Given the description of an element on the screen output the (x, y) to click on. 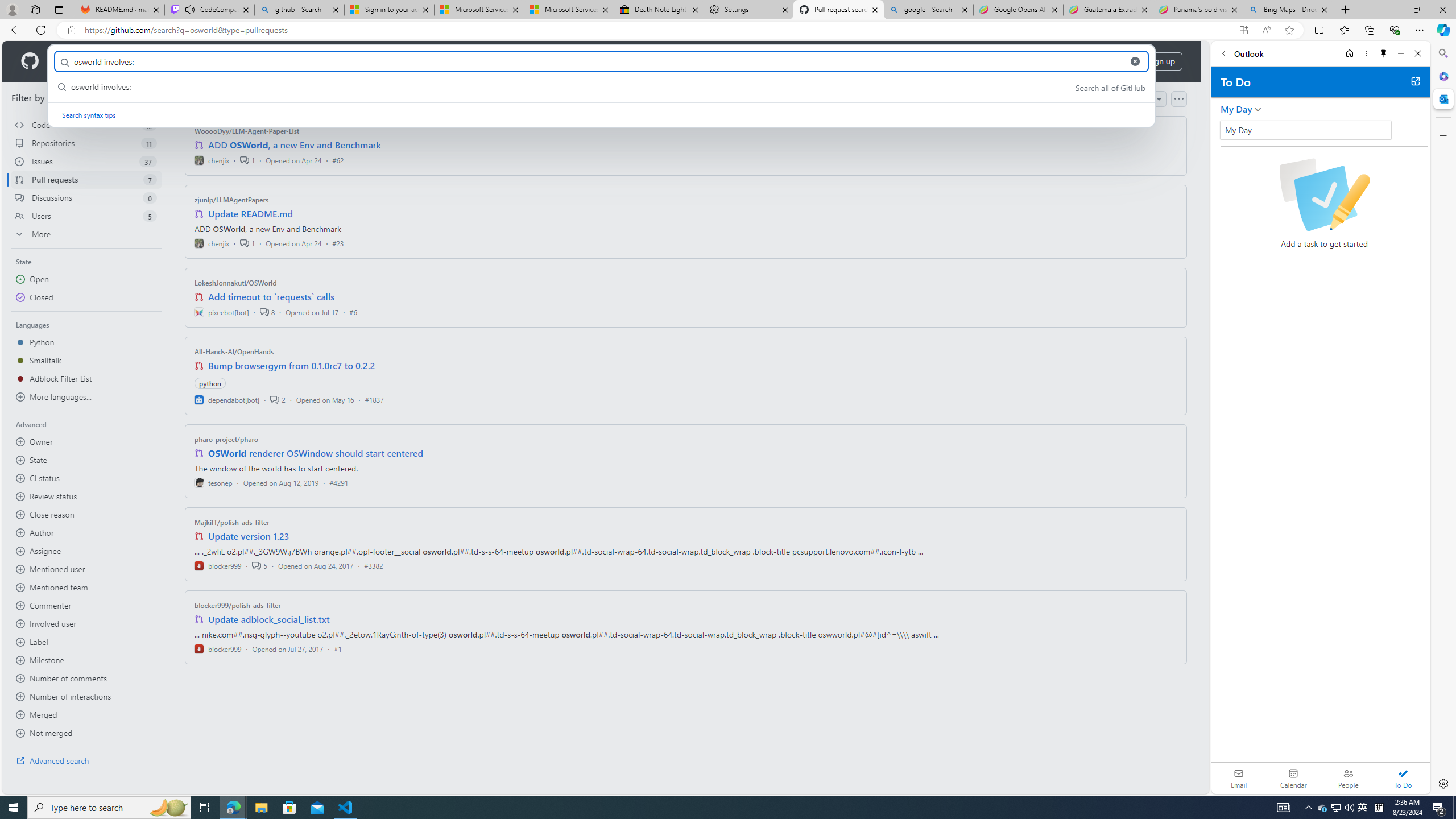
Add timeout to `requests` calls (271, 296)
Google Opens AI Academy for Startups - Nearshore Americas (1018, 9)
